Given the description of an element on the screen output the (x, y) to click on. 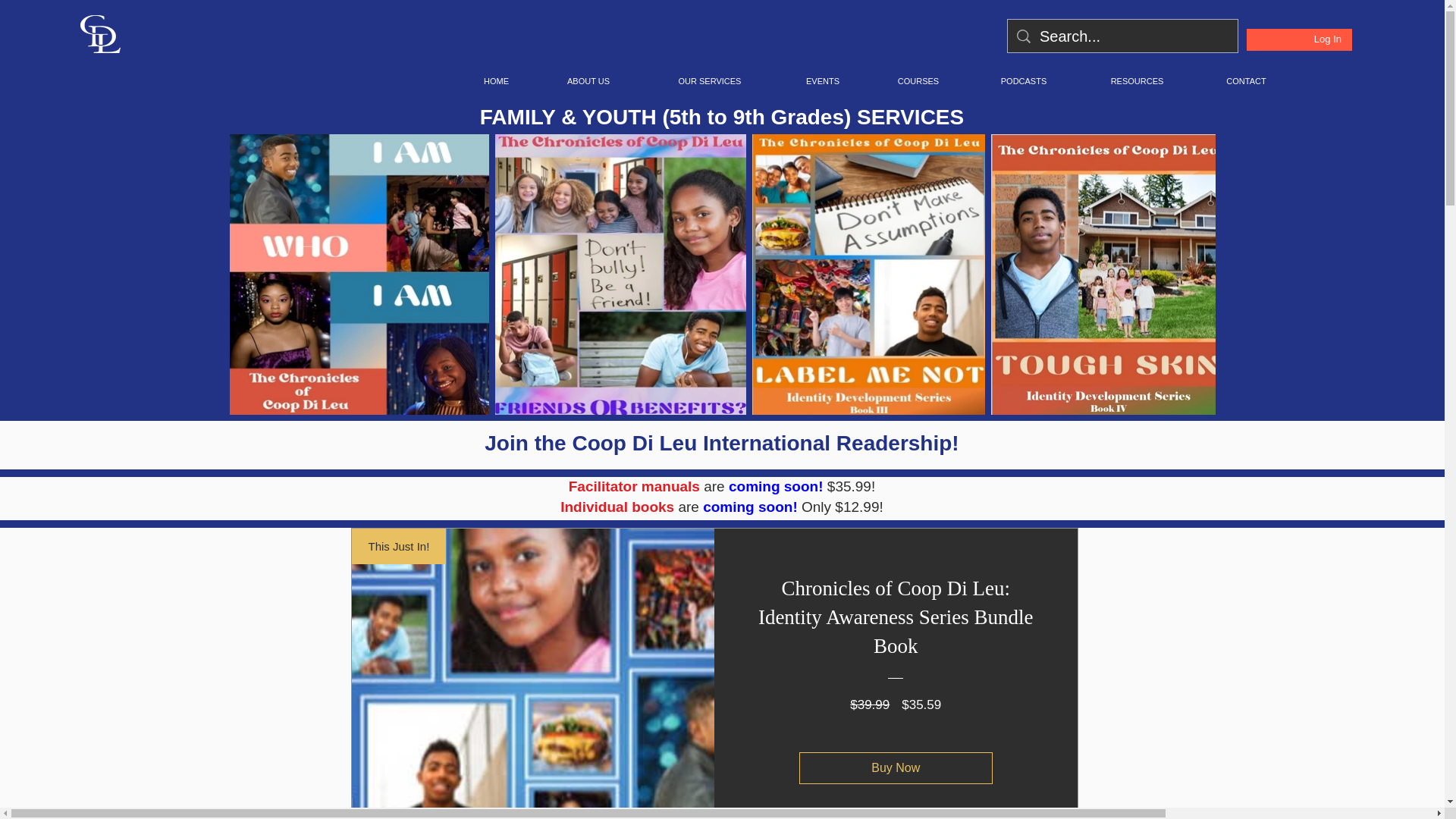
ABOUT US (588, 80)
COURSES (917, 80)
HOME (496, 80)
OUR SERVICES (709, 80)
CONTACT (1246, 80)
RESOURCES (1136, 80)
Log In (1327, 38)
PODCASTS (1023, 80)
Buy Now (895, 767)
EVENTS (822, 80)
